Given the description of an element on the screen output the (x, y) to click on. 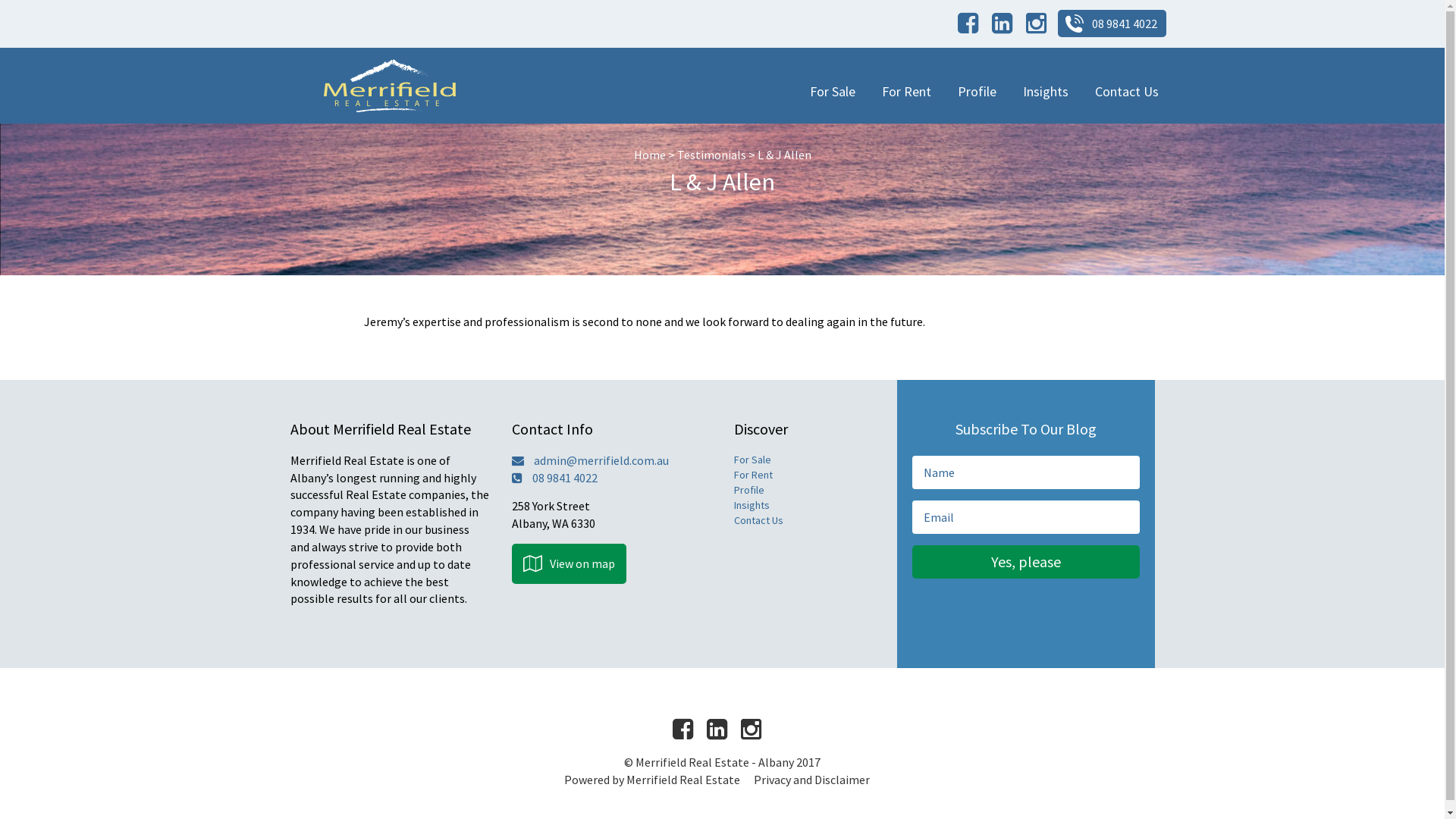
admin@merrifield.com.au Element type: text (611, 460)
For Rent Element type: text (905, 91)
Insights Element type: text (751, 504)
Powered by Merrifield Real Estate Element type: text (652, 779)
Profile Element type: text (976, 91)
Profile Element type: text (749, 489)
Insights Element type: text (1044, 91)
Contact Us Element type: text (1126, 91)
Yes, please Element type: text (1025, 561)
Privacy and Disclaimer Element type: text (811, 779)
Contact Us Element type: text (758, 520)
Home Element type: text (649, 154)
08 9841 4022 Element type: text (611, 477)
For Sale Element type: text (752, 459)
For Rent Element type: text (753, 474)
For Sale Element type: text (832, 91)
View on map Element type: text (568, 563)
08 9841 4022 Element type: text (1111, 23)
Testimonials Element type: text (710, 154)
